Given the description of an element on the screen output the (x, y) to click on. 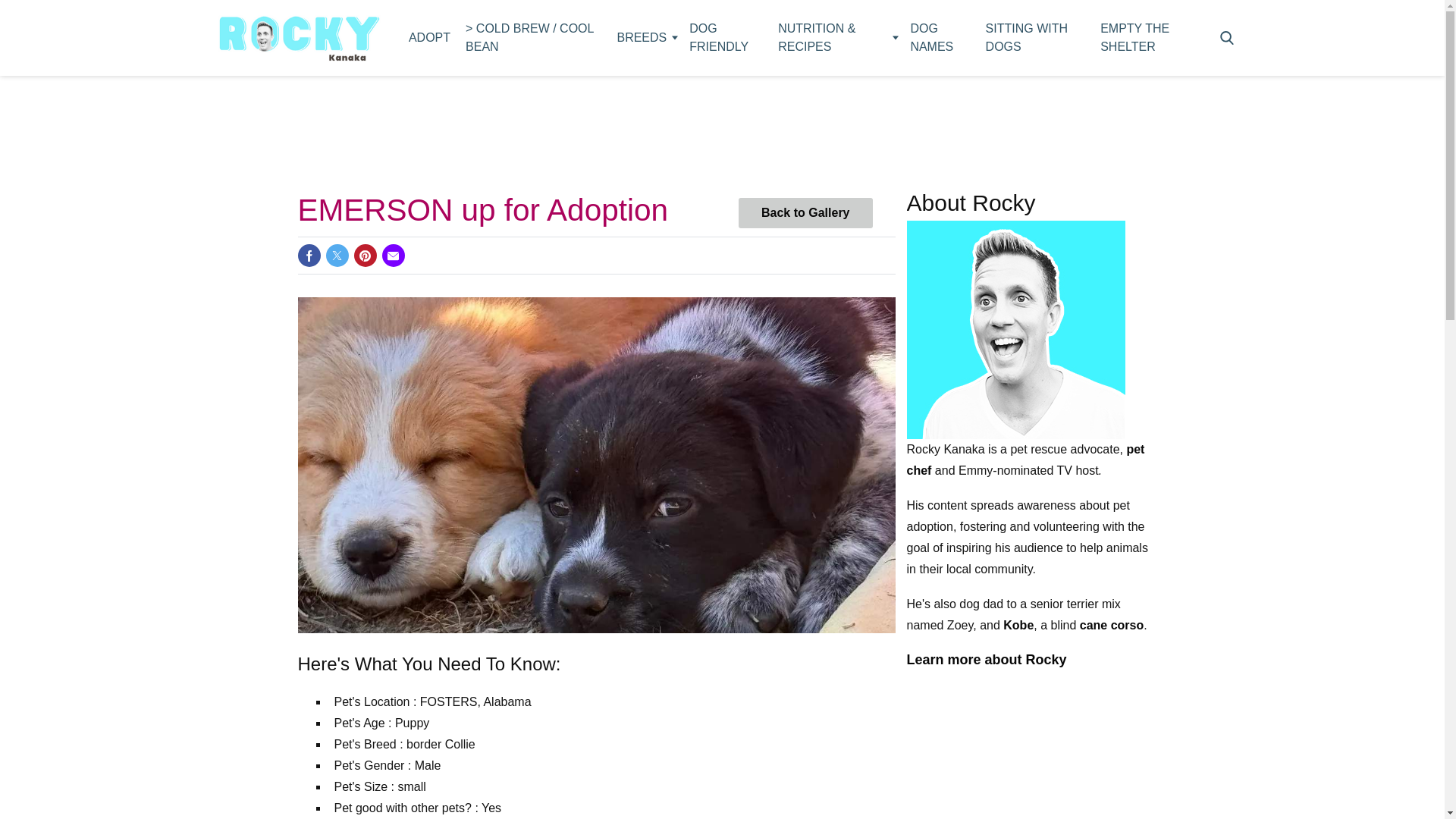
ADOPT (429, 37)
BREEDS (644, 37)
